Given the description of an element on the screen output the (x, y) to click on. 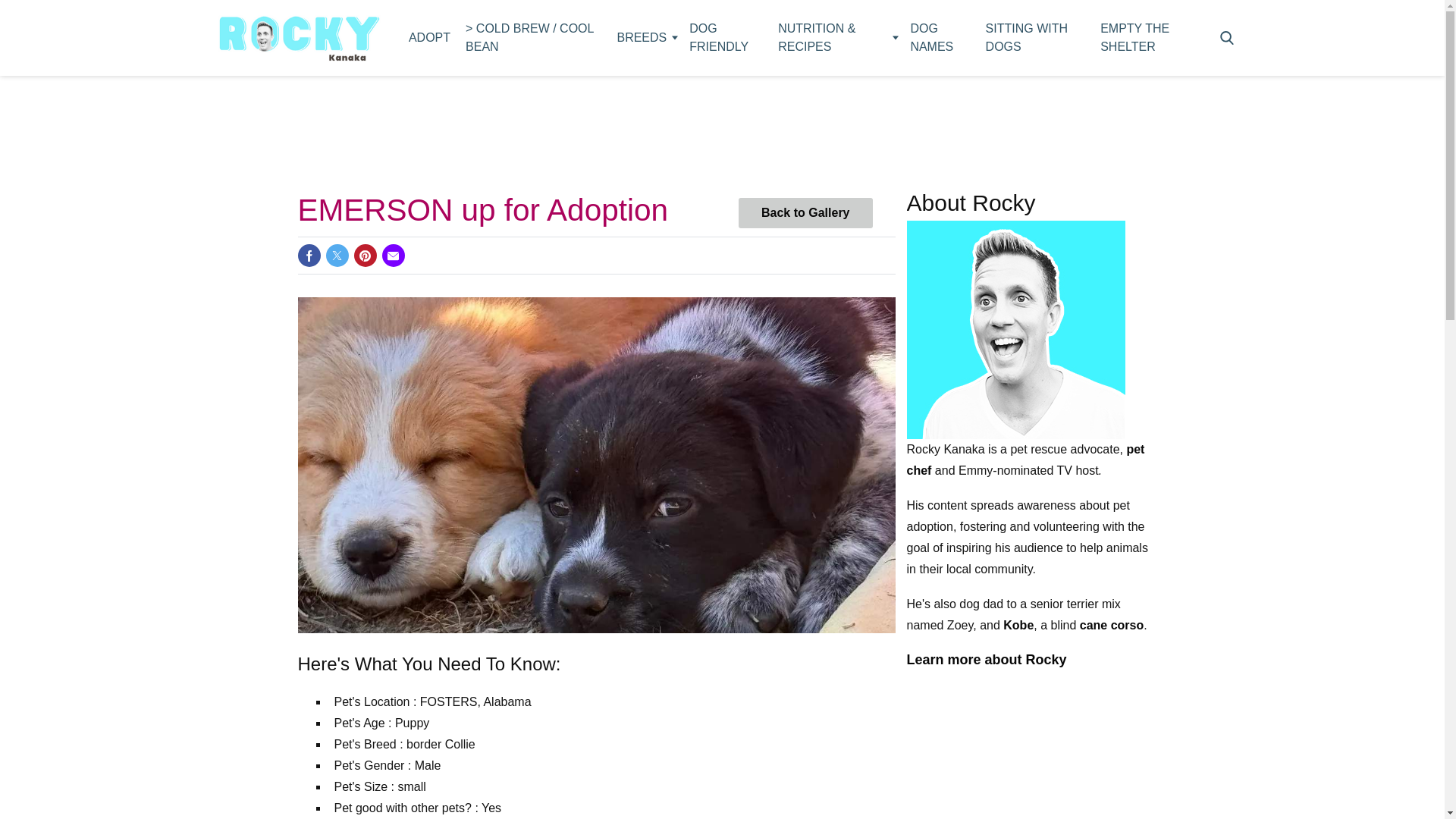
ADOPT (429, 37)
BREEDS (644, 37)
